Given the description of an element on the screen output the (x, y) to click on. 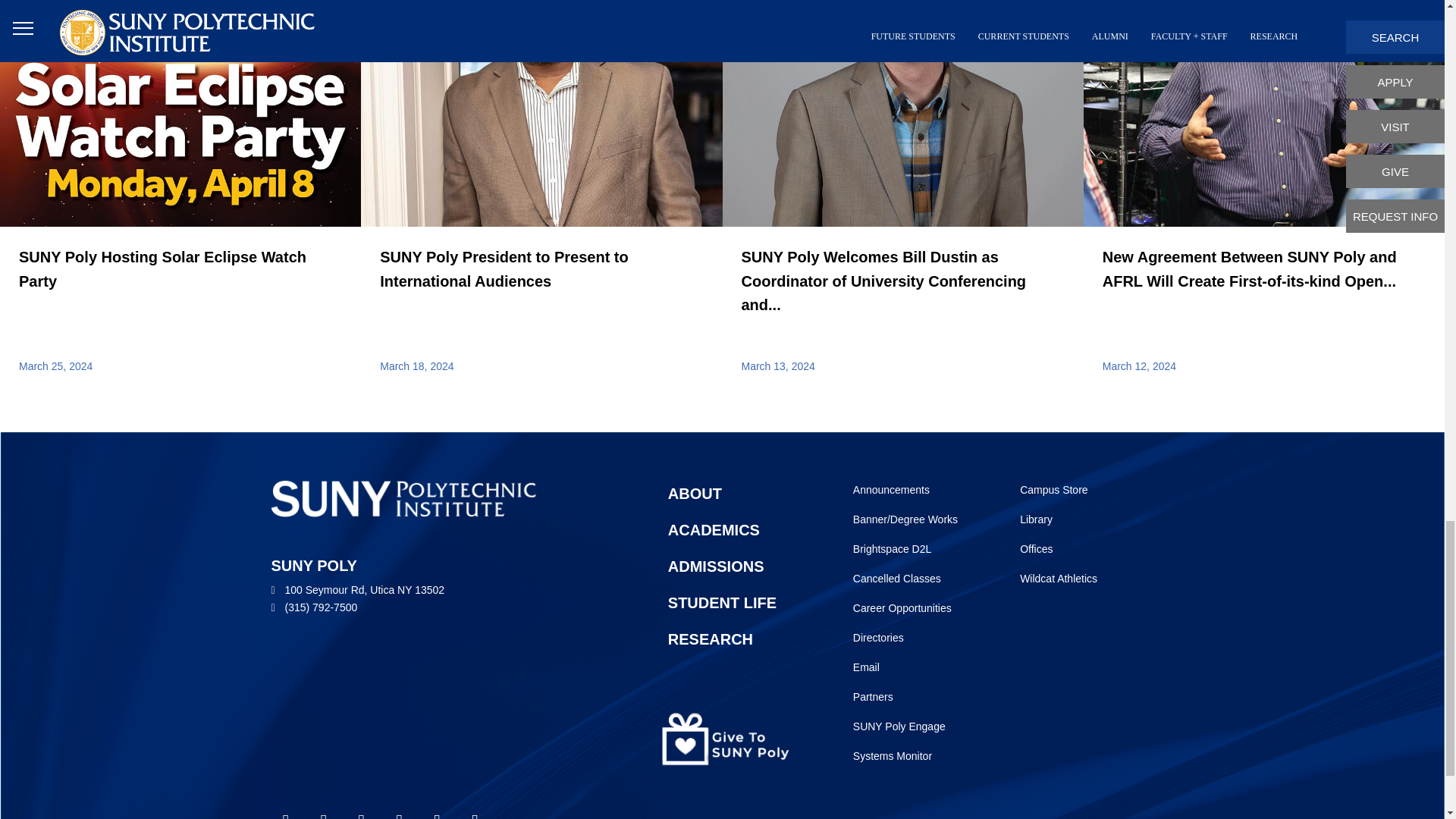
Brightspace D2L (906, 546)
Announcements (906, 487)
ABOUT (737, 491)
Email (906, 665)
Faculty, Staff, Student Announcements (906, 576)
SUNY Poly Engage (906, 487)
STUDENT LIFE (906, 724)
Partners (737, 600)
RESEARCH (906, 694)
ADMISSIONS (737, 636)
ACADEMICS (737, 563)
